Given the description of an element on the screen output the (x, y) to click on. 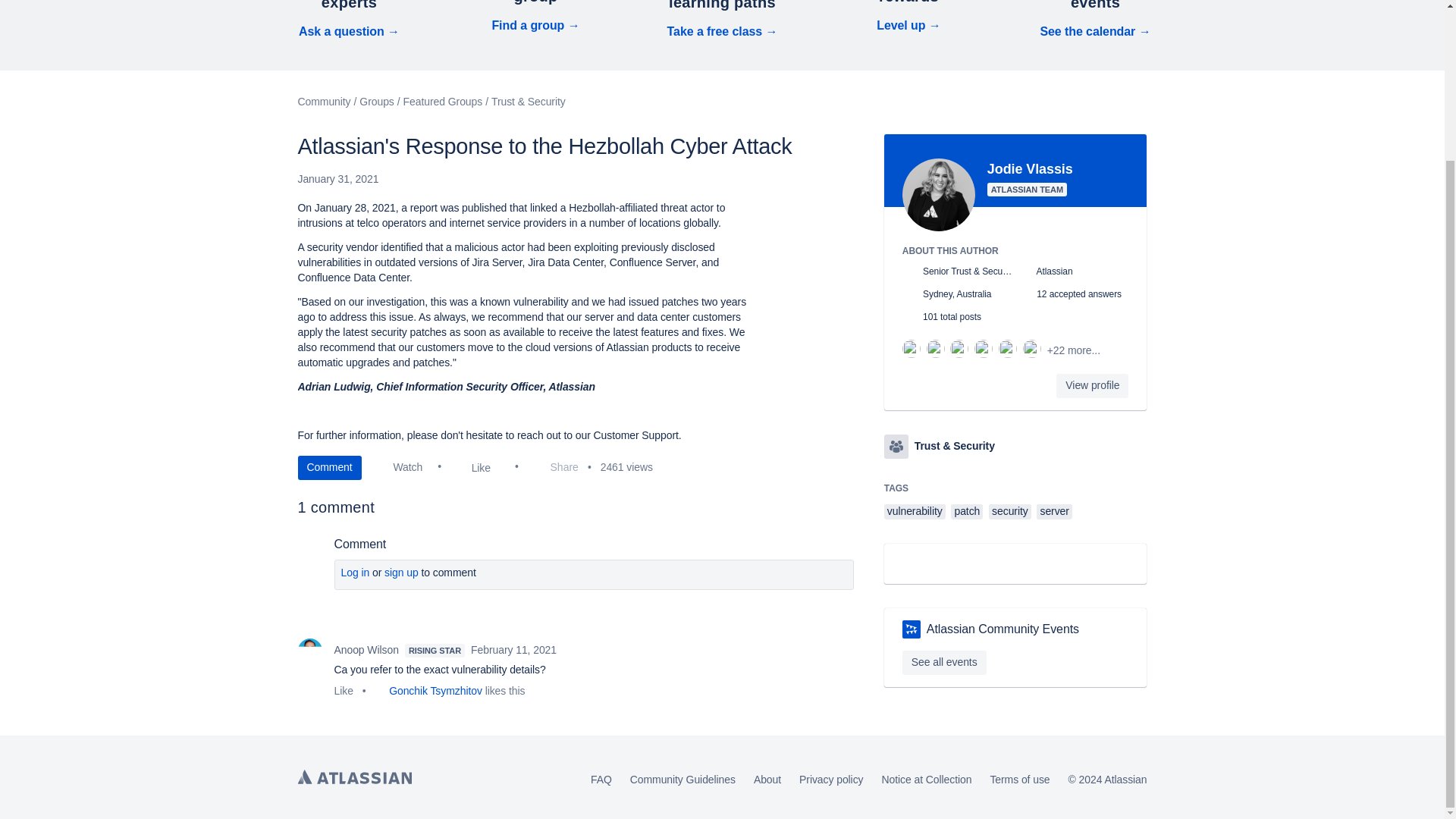
Anoop Wilson (309, 650)
AUG Leaders (911, 628)
groups-icon (895, 446)
